Given the description of an element on the screen output the (x, y) to click on. 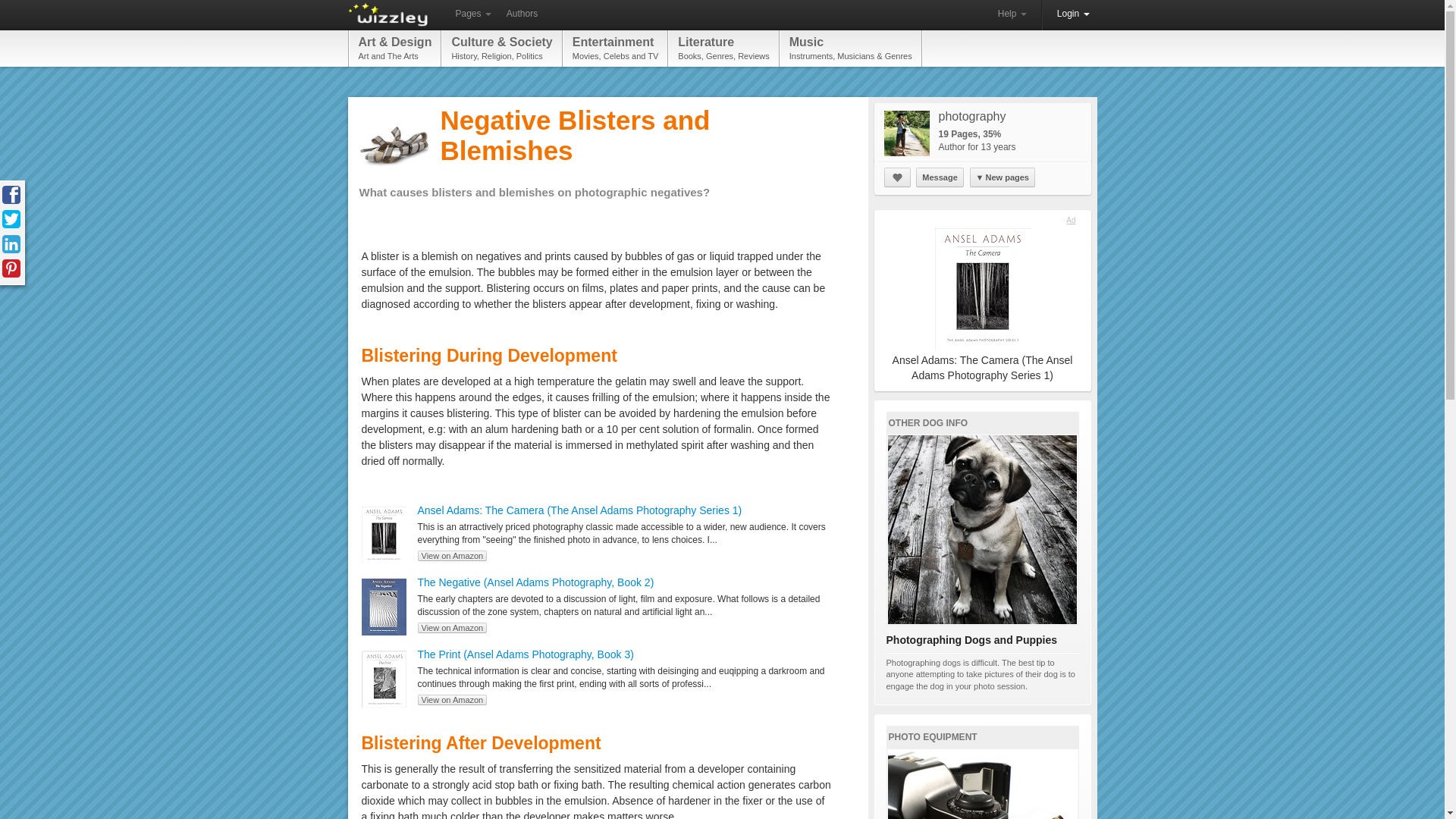
View on Amazon (451, 627)
Help (615, 48)
Message (1011, 14)
Pages (938, 177)
Authors (471, 14)
View on Amazon (521, 14)
Login (451, 699)
